Given the description of an element on the screen output the (x, y) to click on. 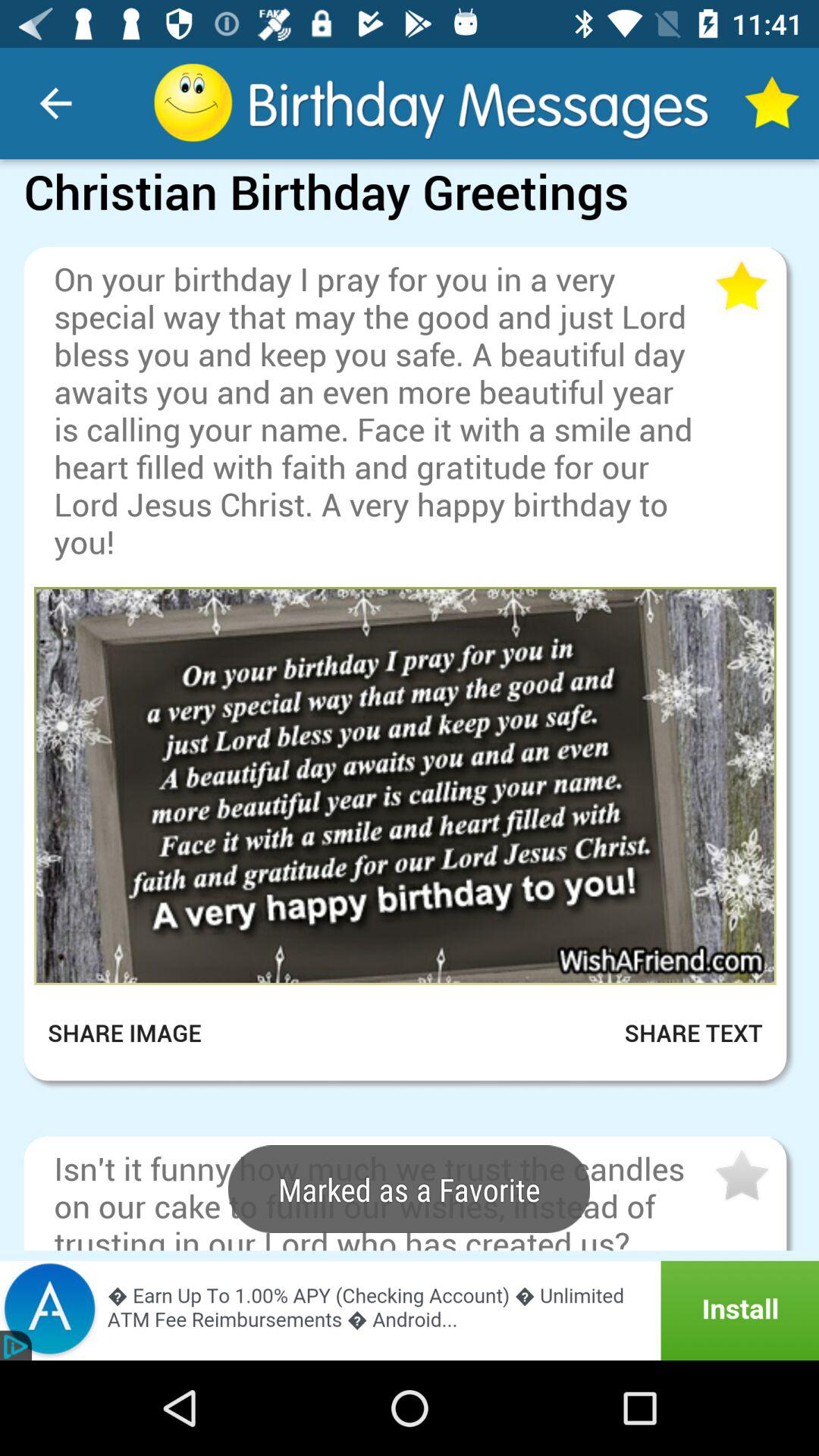
set as favorite (740, 286)
